Given the description of an element on the screen output the (x, y) to click on. 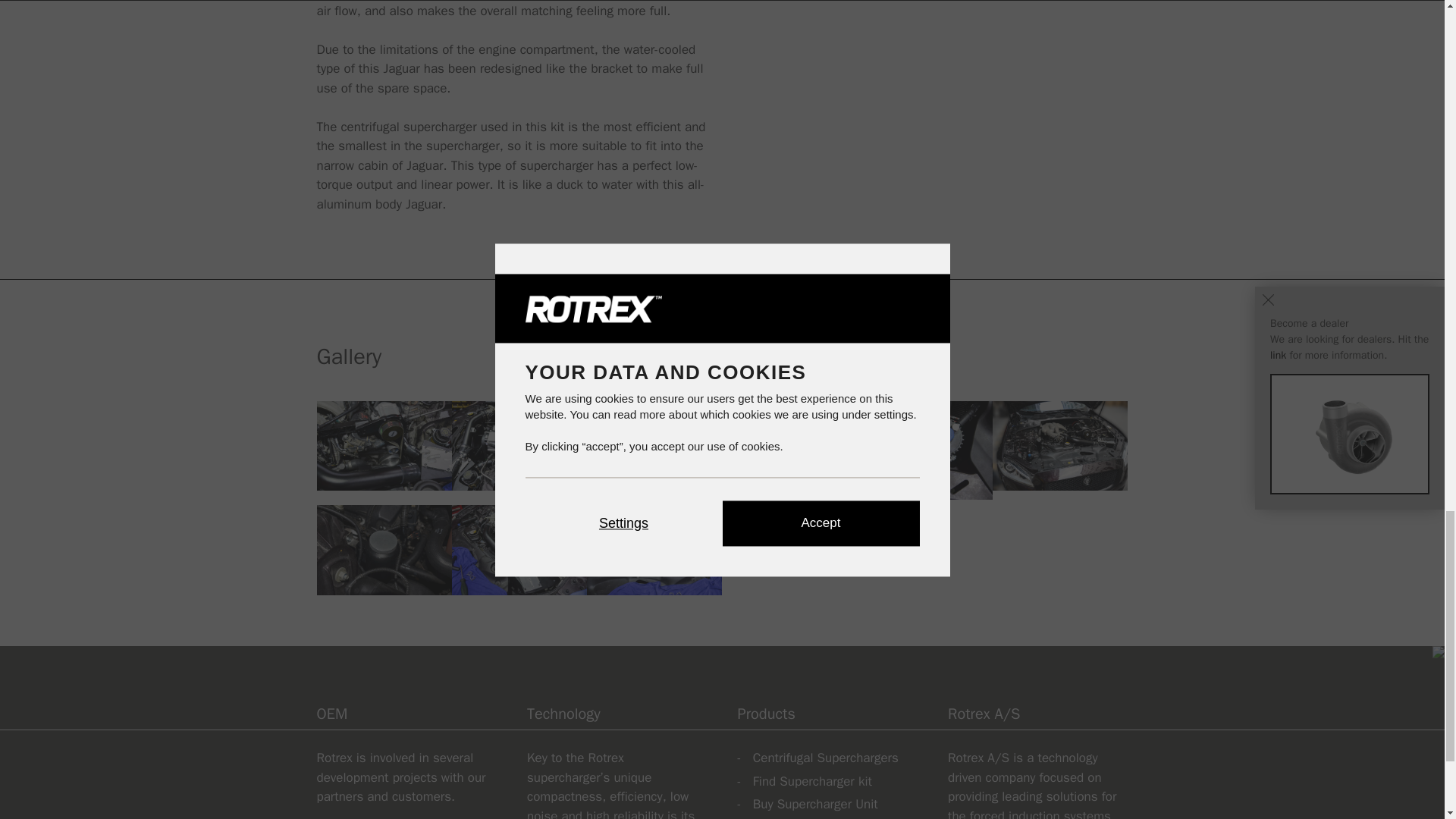
Find Supercharger kit (812, 781)
Buy Supercharger Unit (814, 804)
Centrifugal Superchargers (825, 757)
